Given the description of an element on the screen output the (x, y) to click on. 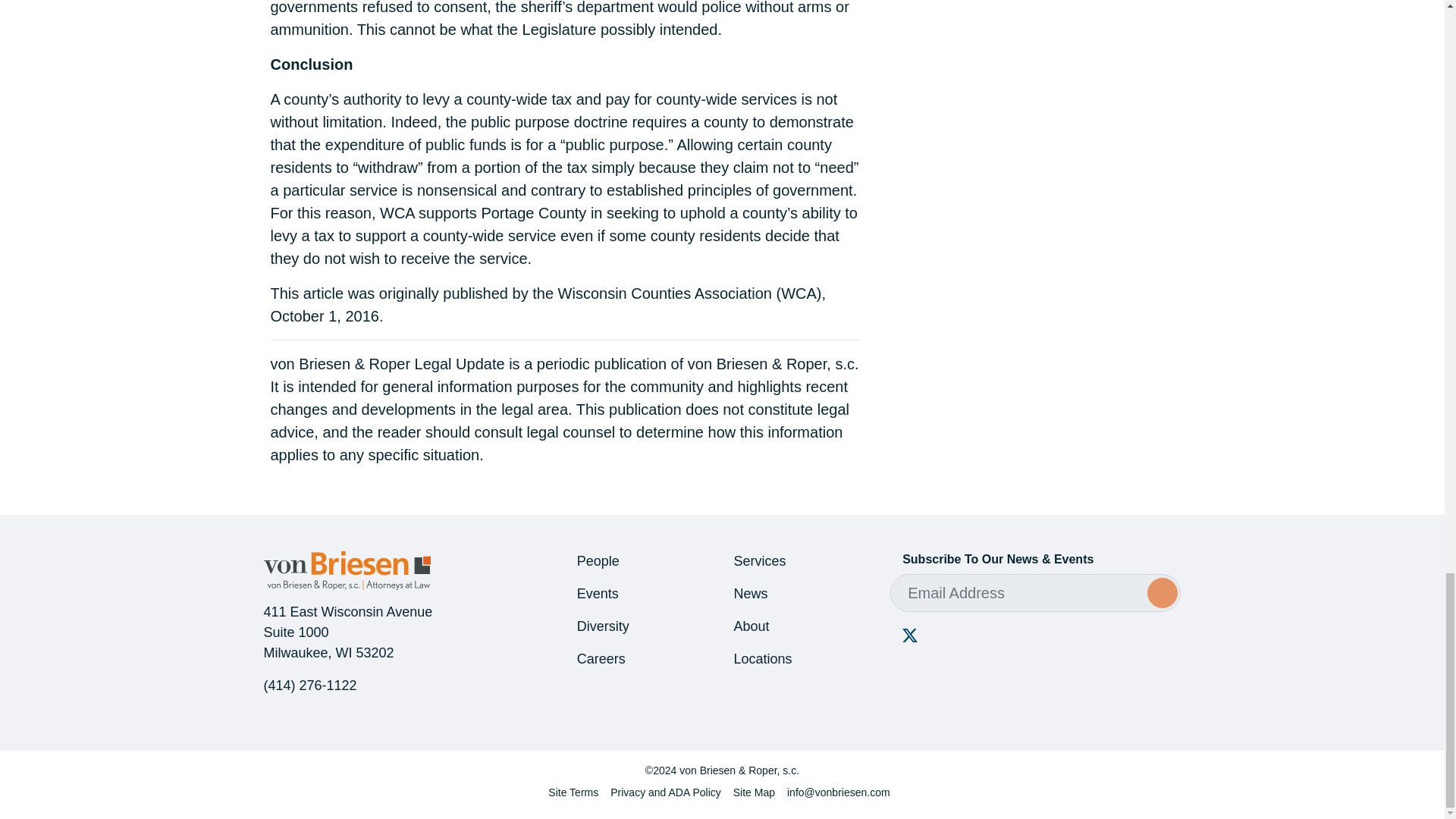
People (598, 560)
